Given the description of an element on the screen output the (x, y) to click on. 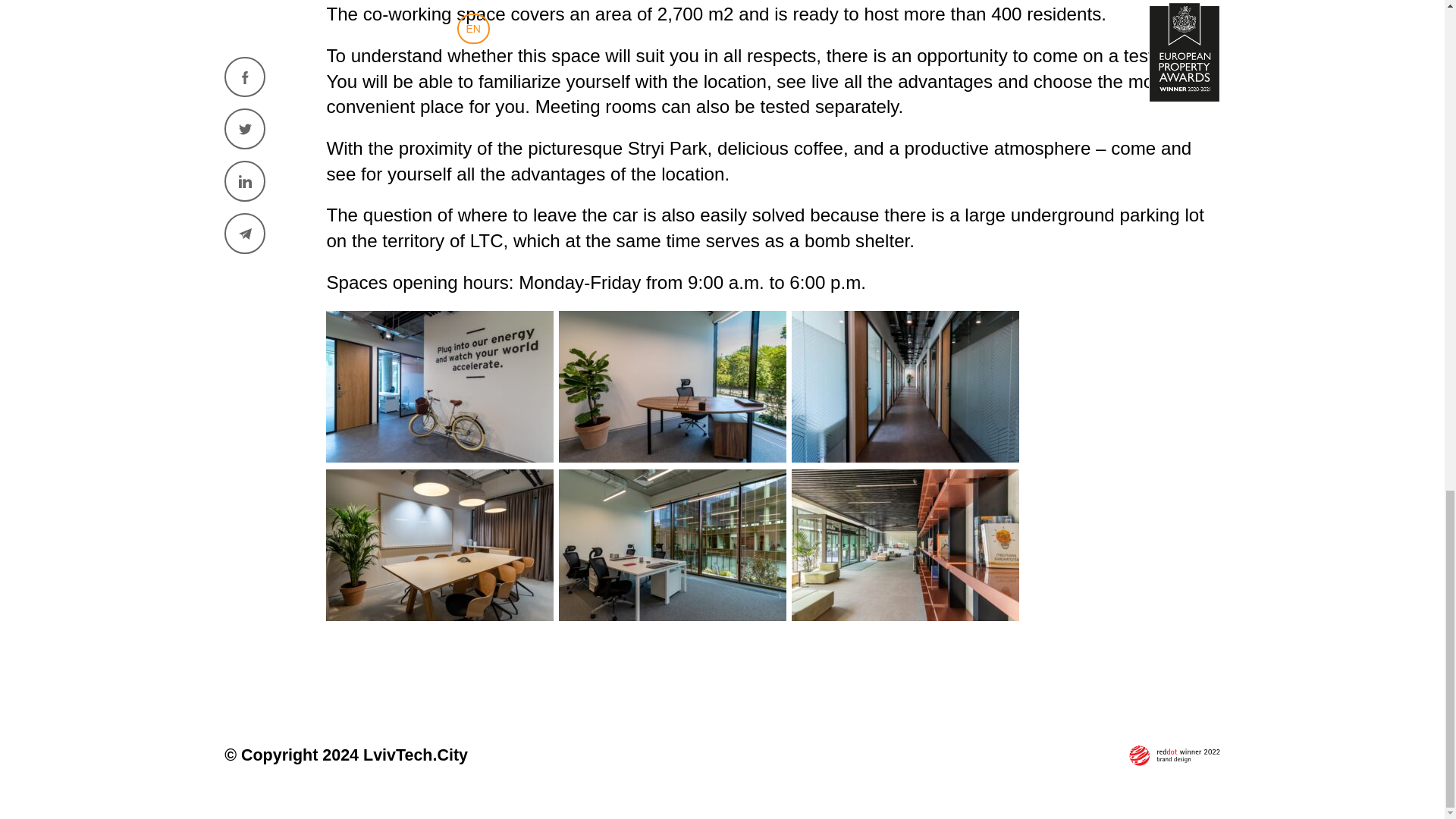
twitter (244, 22)
linkedin  (244, 74)
 telegramm  (244, 127)
